Given the description of an element on the screen output the (x, y) to click on. 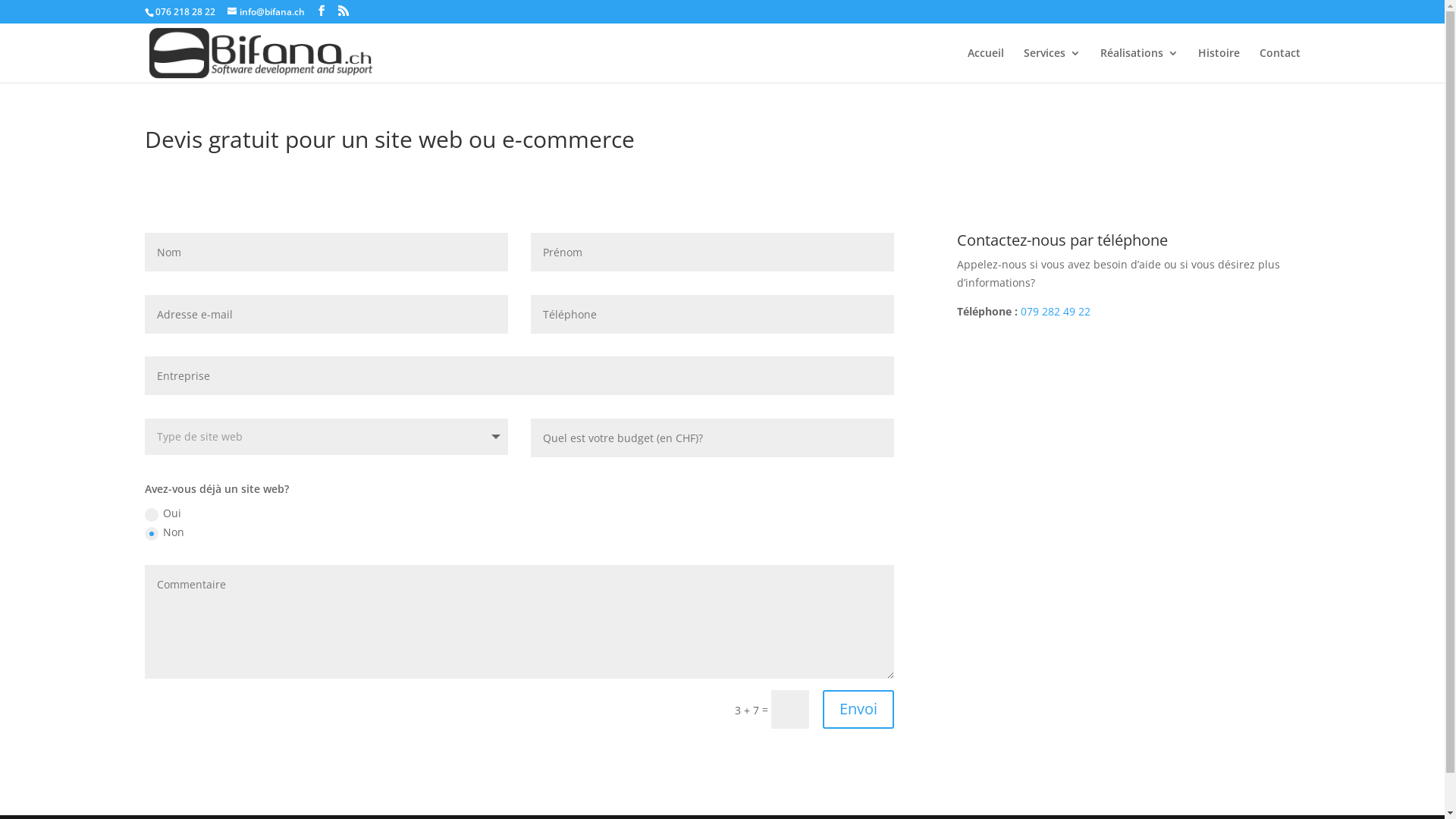
info@bifana.ch Element type: text (265, 11)
Envoi Element type: text (858, 709)
Accueil Element type: text (985, 64)
Services Element type: text (1051, 64)
079 282 49 22 Element type: text (1053, 311)
Contact Element type: text (1278, 64)
Histoire Element type: text (1218, 64)
